Given the description of an element on the screen output the (x, y) to click on. 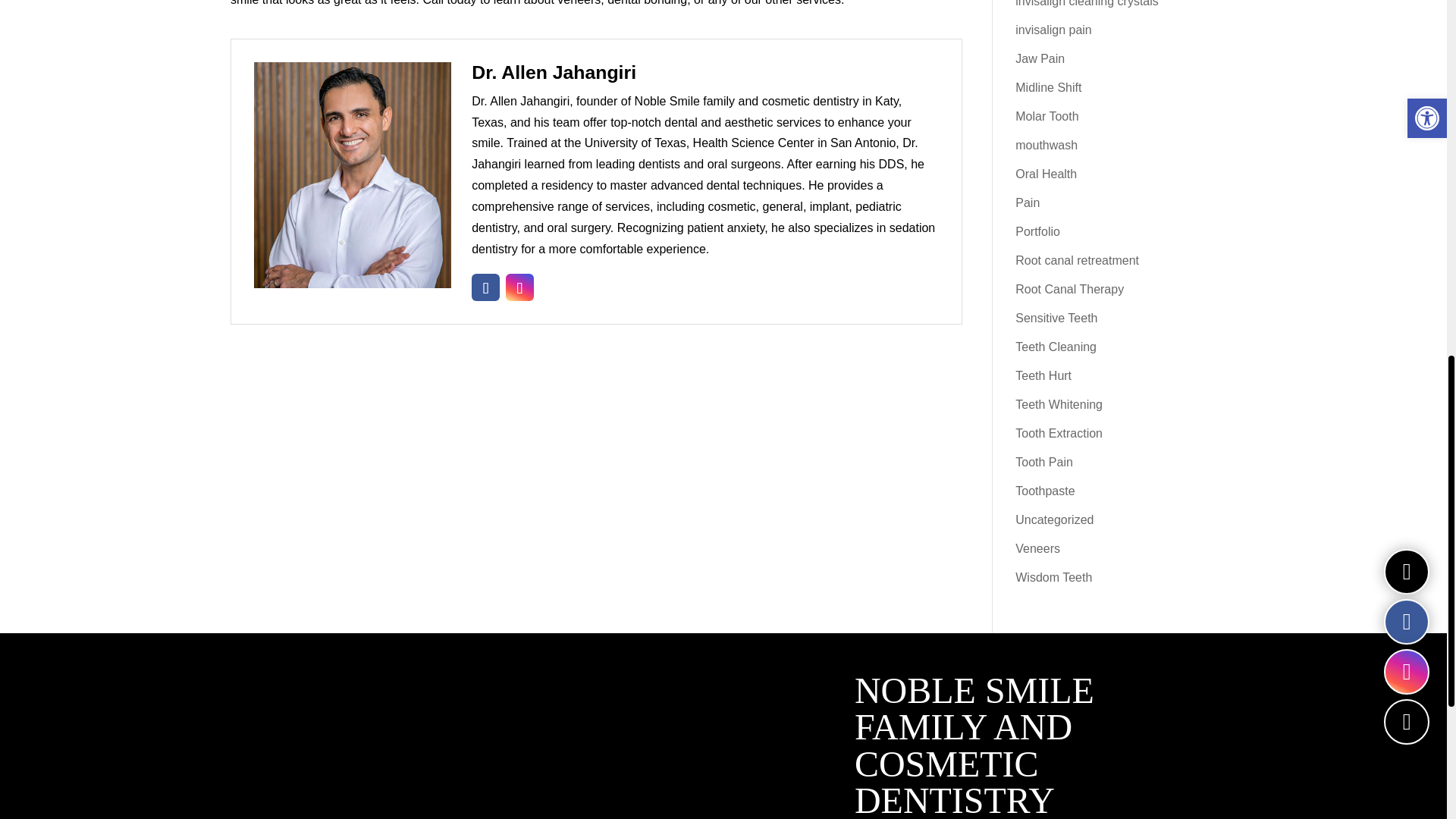
Follow on Instagram (519, 287)
Follow on Facebook (485, 287)
